Given the description of an element on the screen output the (x, y) to click on. 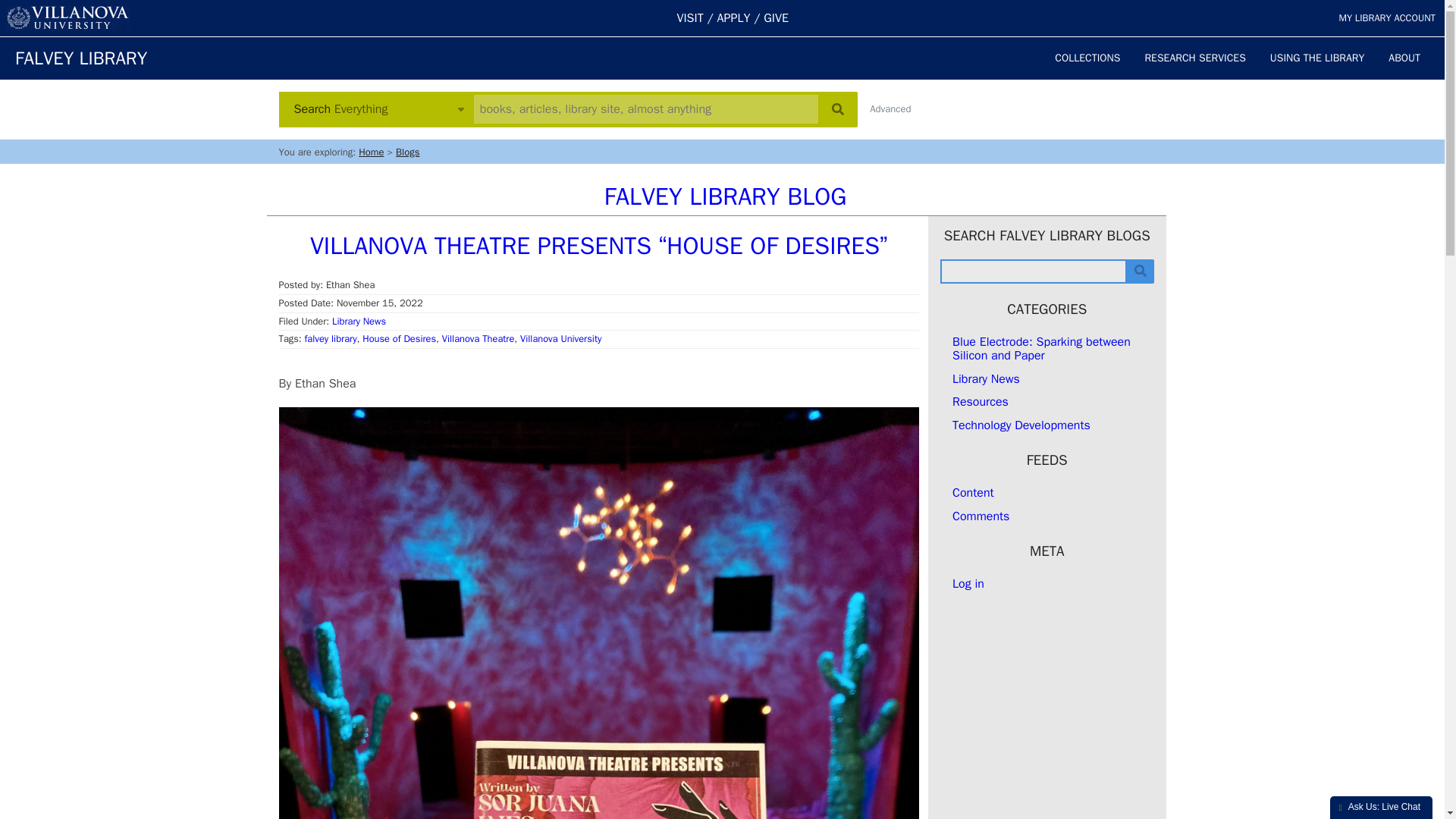
Advanced (890, 109)
House of Desires (398, 338)
The latest comments to all posts in RSS (980, 516)
VISIT (690, 17)
Blogs (407, 151)
RESEARCH SERVICES (1194, 57)
Resources (980, 401)
FALVEY LIBRARY (80, 57)
Library News (986, 378)
Comments (980, 516)
Syndicate this site using RSS (973, 492)
Technology Developments (1021, 424)
Home (371, 151)
ABOUT (1403, 57)
Library News (358, 321)
